Given the description of an element on the screen output the (x, y) to click on. 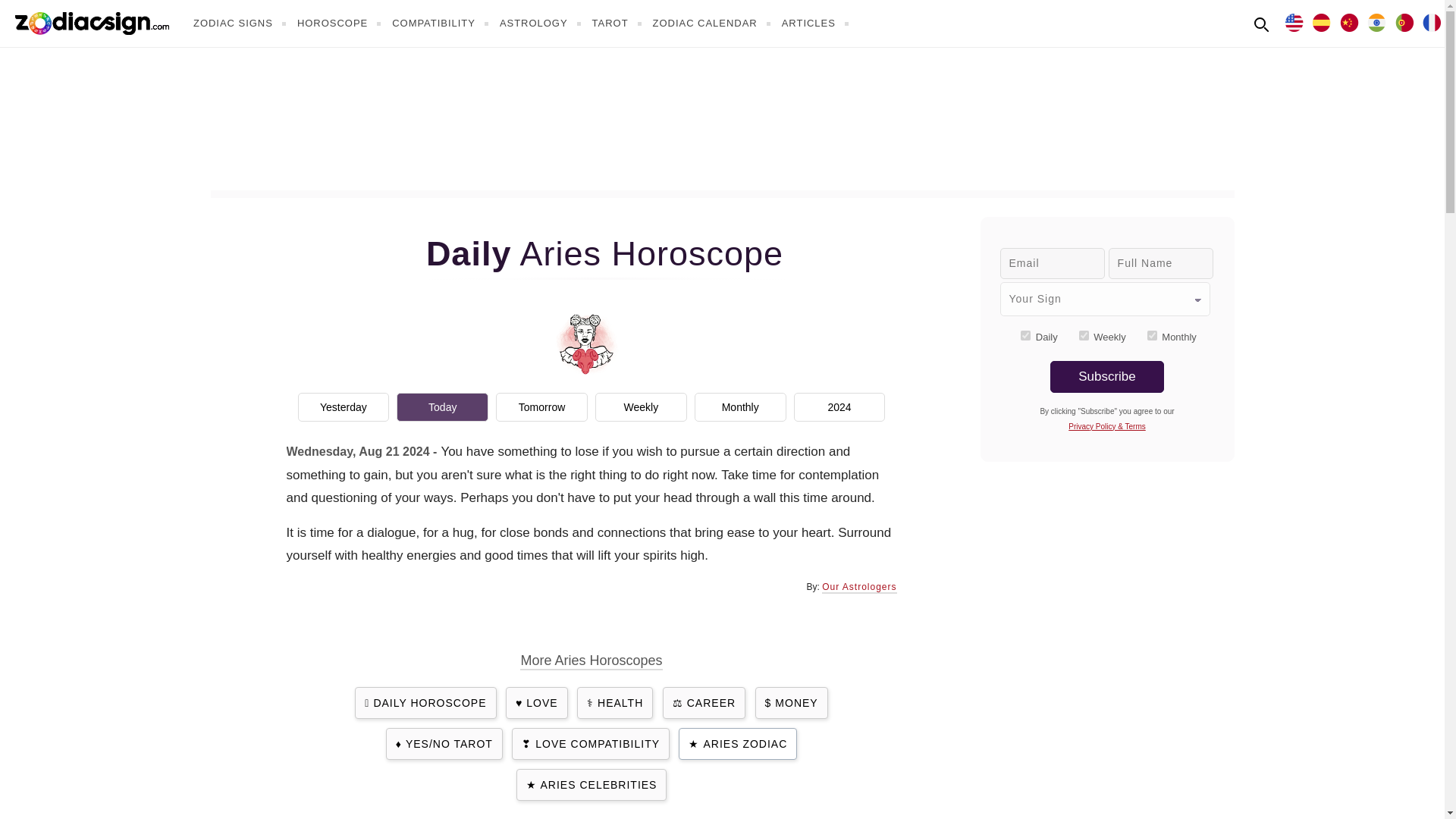
daily (1025, 335)
ZODIAC SIGNS (241, 23)
weekly (1083, 335)
In English (1294, 21)
monthly (1152, 335)
HOROSCOPE (341, 23)
